Given the description of an element on the screen output the (x, y) to click on. 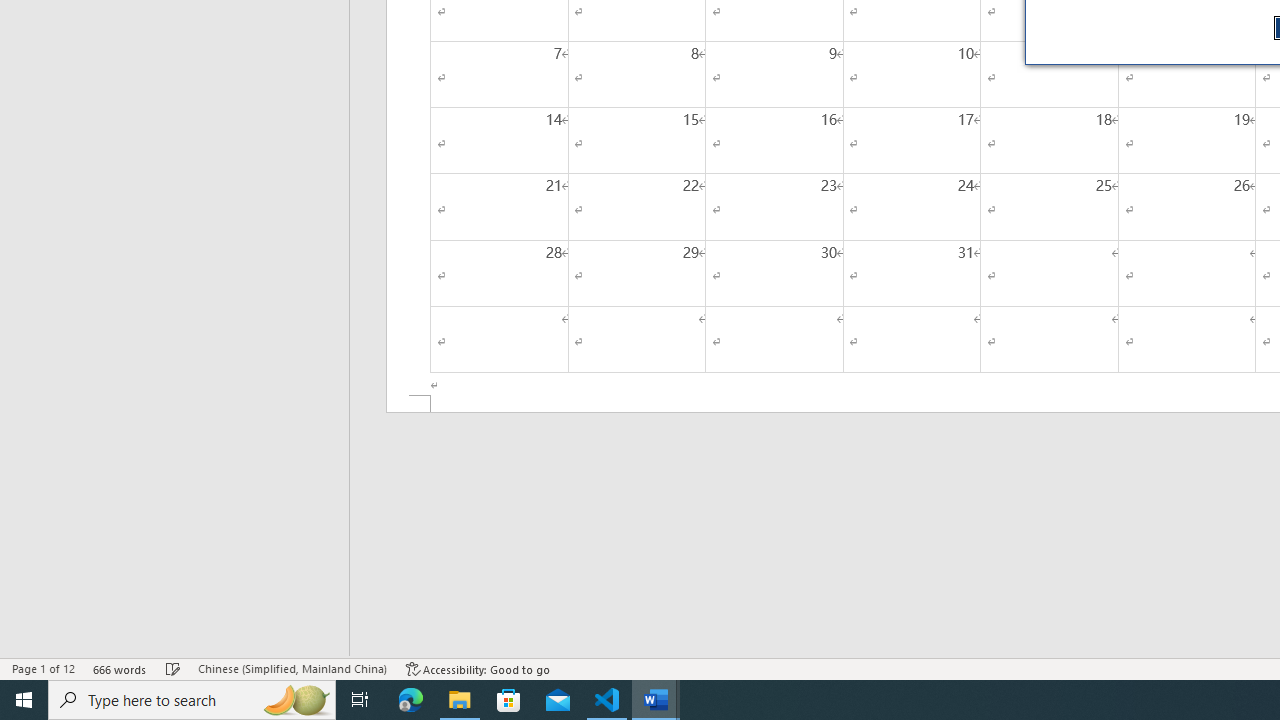
Page Number Page 1 of 12 (43, 668)
Microsoft Edge (411, 699)
File Explorer - 1 running window (460, 699)
Word - 2 running windows (656, 699)
Word Count 666 words (119, 668)
